Given the description of an element on the screen output the (x, y) to click on. 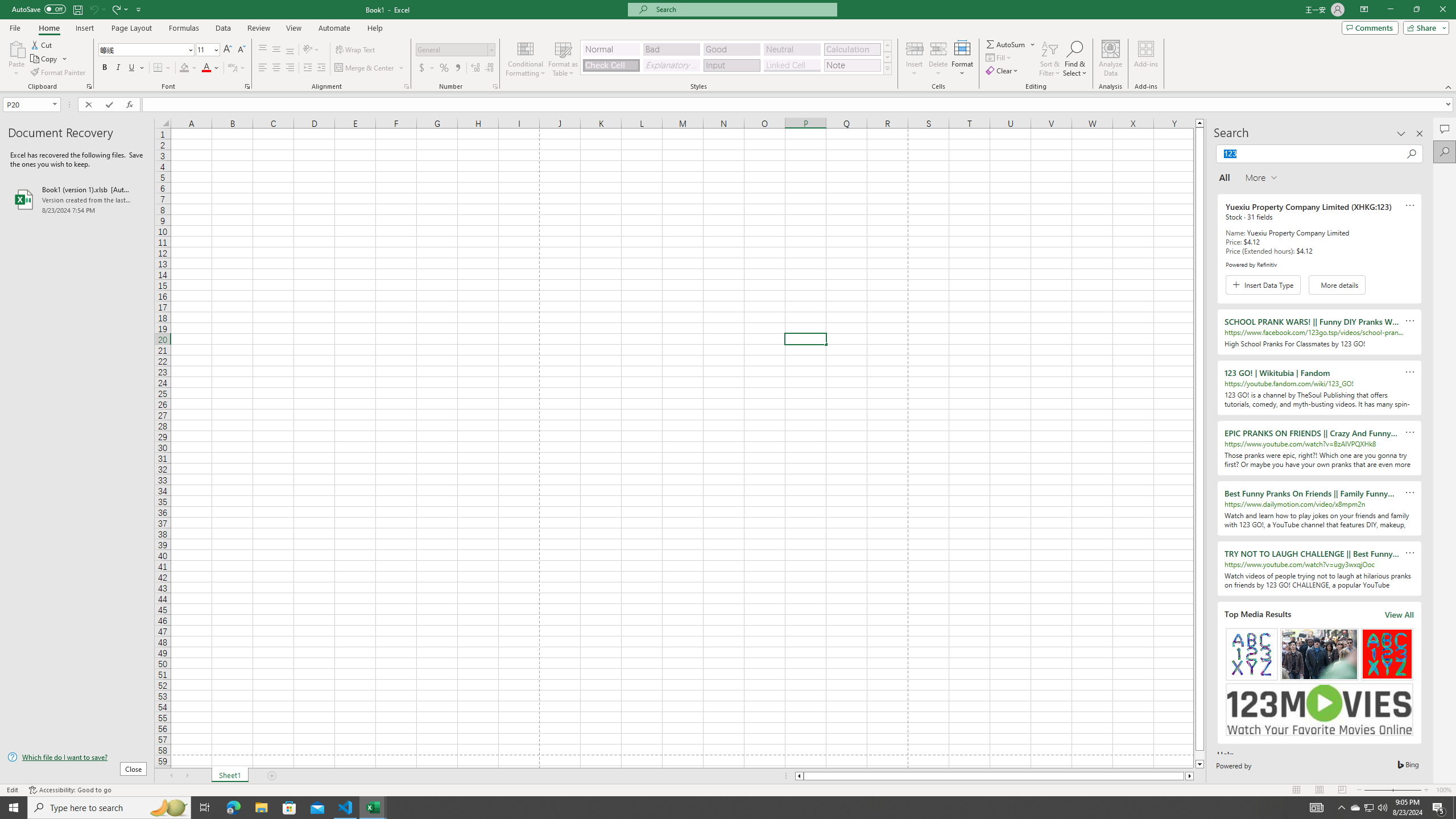
Center (276, 67)
Delete (938, 58)
